Given the description of an element on the screen output the (x, y) to click on. 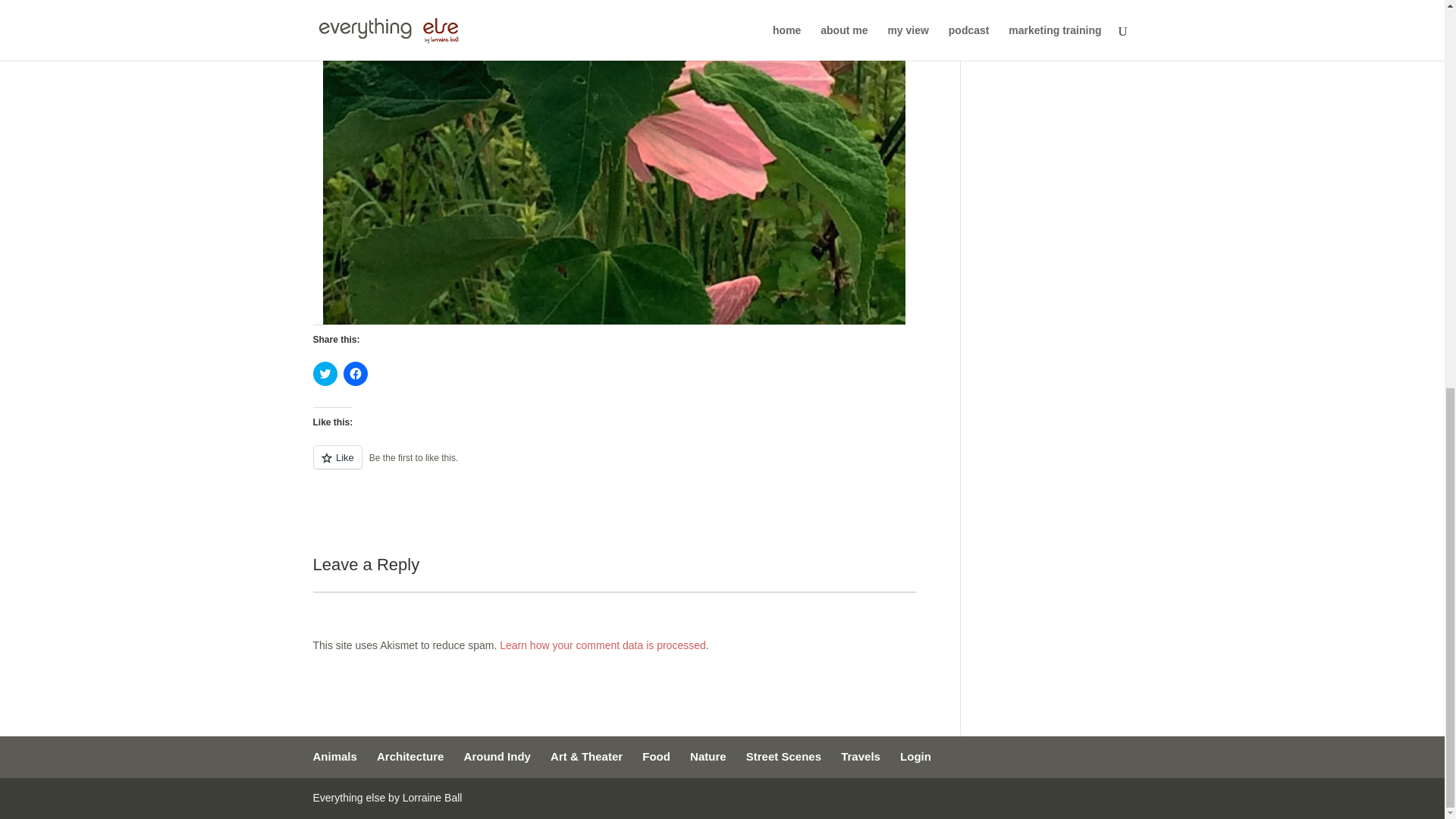
Animals (334, 756)
Click to share on Facebook (354, 373)
Street Scenes (783, 756)
Travels (860, 756)
Nature (708, 756)
Login (915, 756)
Learn how your comment data is processed (602, 645)
Click to share on Twitter (324, 373)
Food (655, 756)
